Given the description of an element on the screen output the (x, y) to click on. 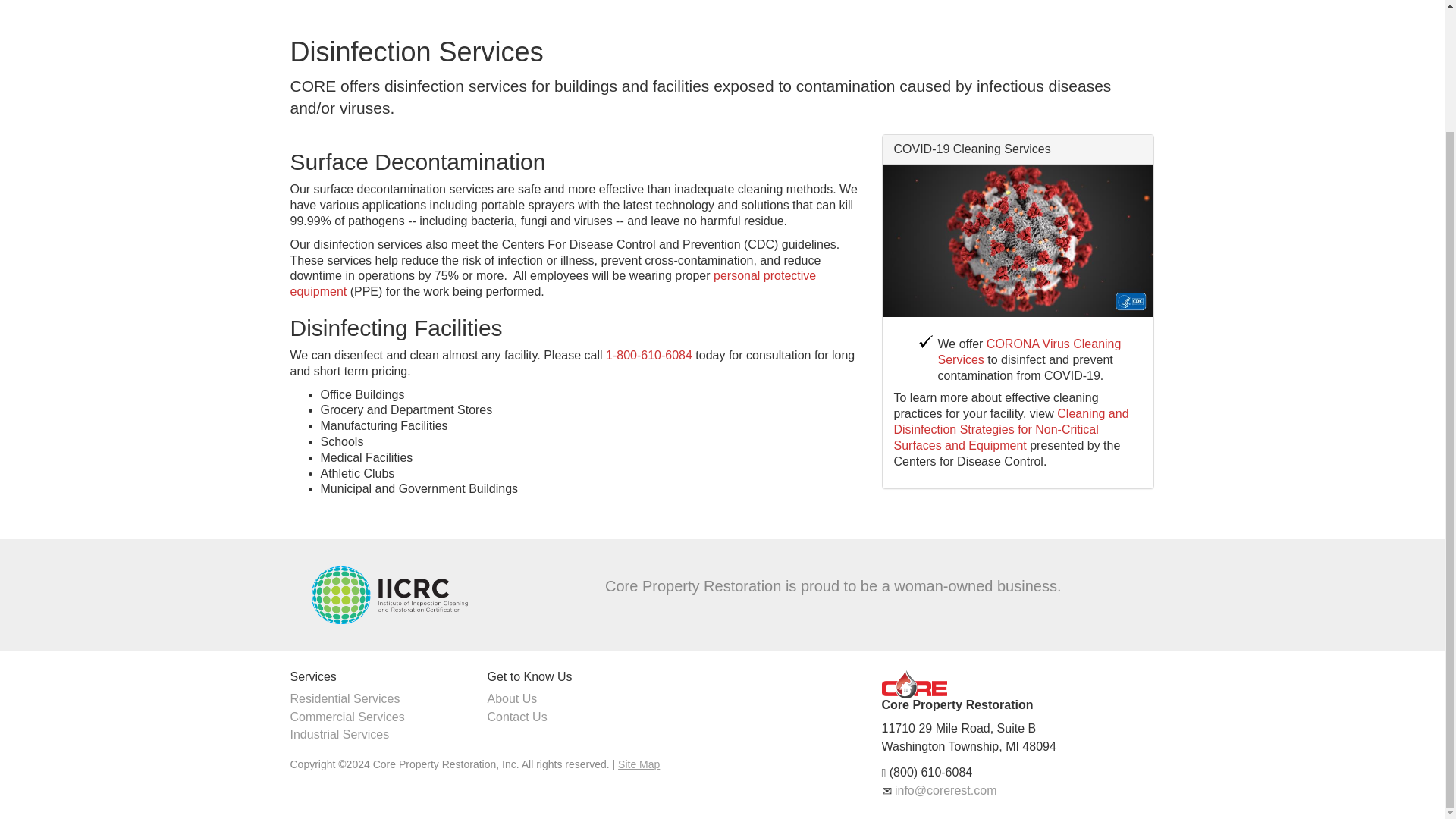
1-800-610-6084 (649, 354)
Commercial Services (346, 716)
Industrial Services (338, 734)
Site Map (638, 764)
Residential Services (343, 698)
Email the service department (946, 789)
personal protective equipment (552, 283)
Contact Us (516, 716)
CORONA Virus Cleaning Services (1029, 351)
